Given the description of an element on the screen output the (x, y) to click on. 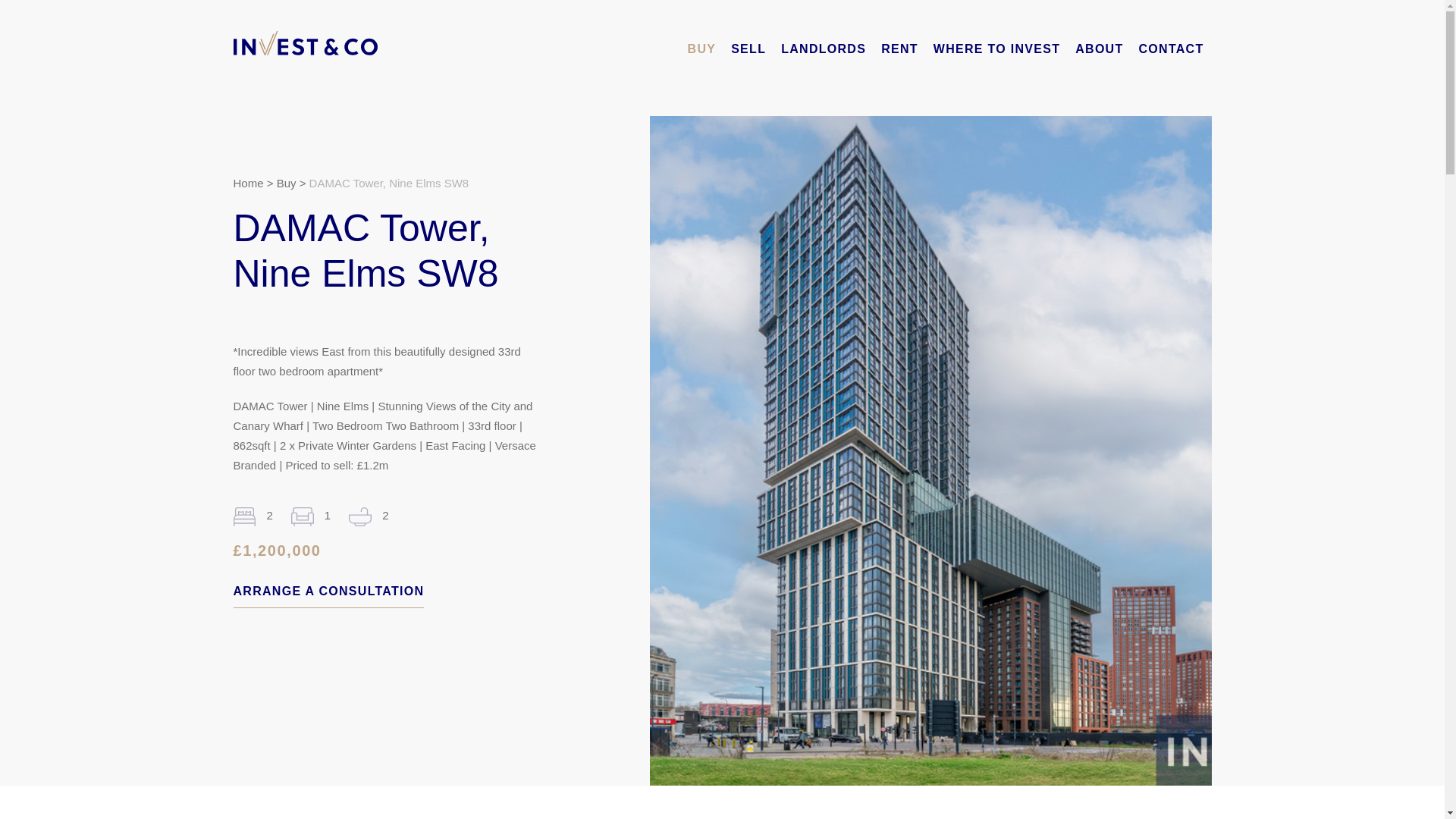
RENT (899, 49)
ABOUT (1099, 49)
SELL (748, 49)
WHERE TO INVEST (996, 49)
ARRANGE A CONSULTATION (328, 591)
LANDLORDS (823, 49)
BUY (701, 49)
Buy (286, 183)
CONTACT (1171, 49)
Home (247, 183)
